Given the description of an element on the screen output the (x, y) to click on. 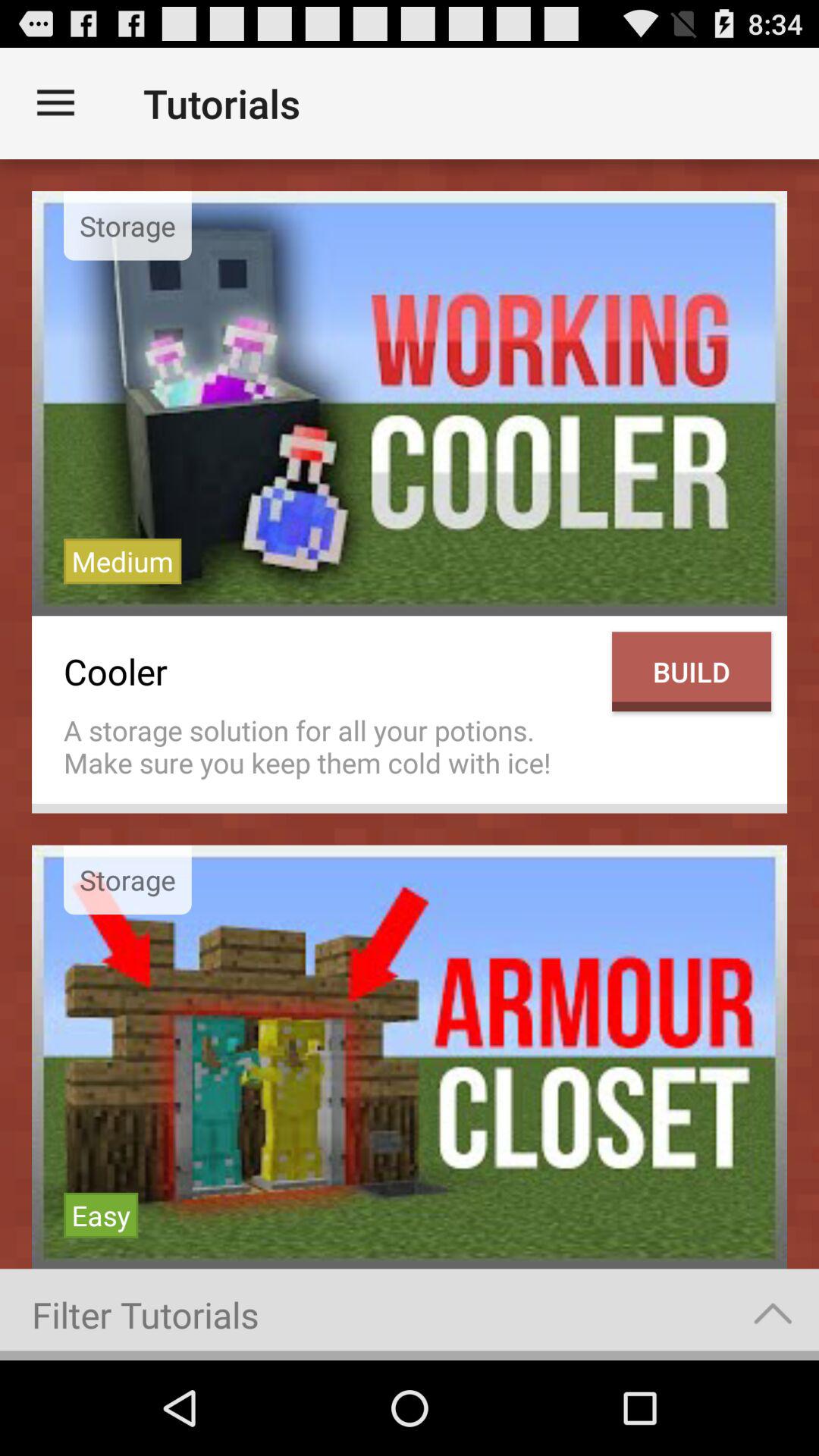
scroll to easy icon (100, 1215)
